Given the description of an element on the screen output the (x, y) to click on. 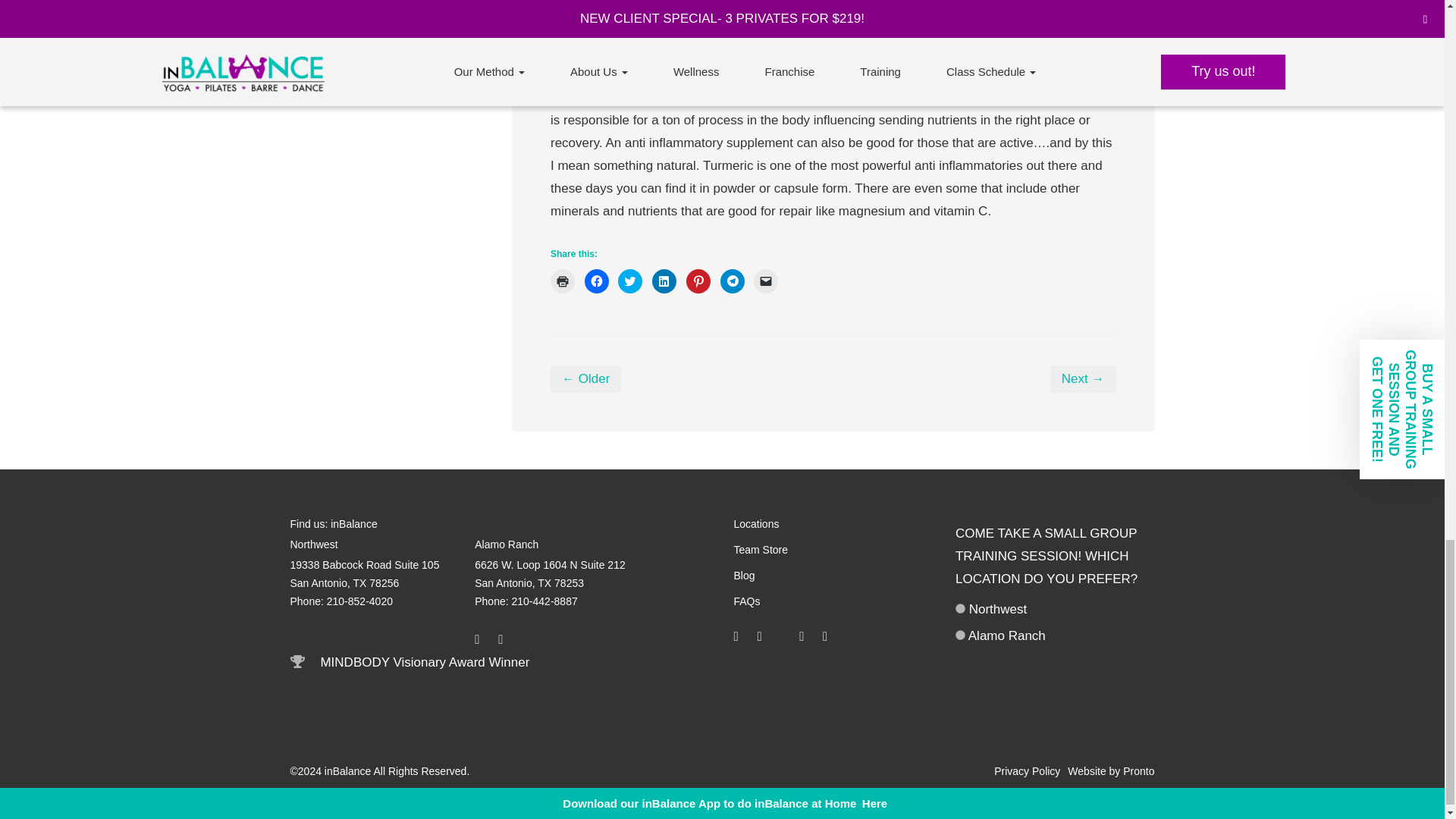
Click to email a link to a friend (765, 281)
Click to share on Twitter (629, 281)
Click to print (562, 281)
Click to share on Pinterest (697, 281)
Click to share on Telegram (732, 281)
Northwest (960, 608)
Click to share on Facebook (596, 281)
Click to share on LinkedIn (664, 281)
AlamoRanch (960, 634)
